Given the description of an element on the screen output the (x, y) to click on. 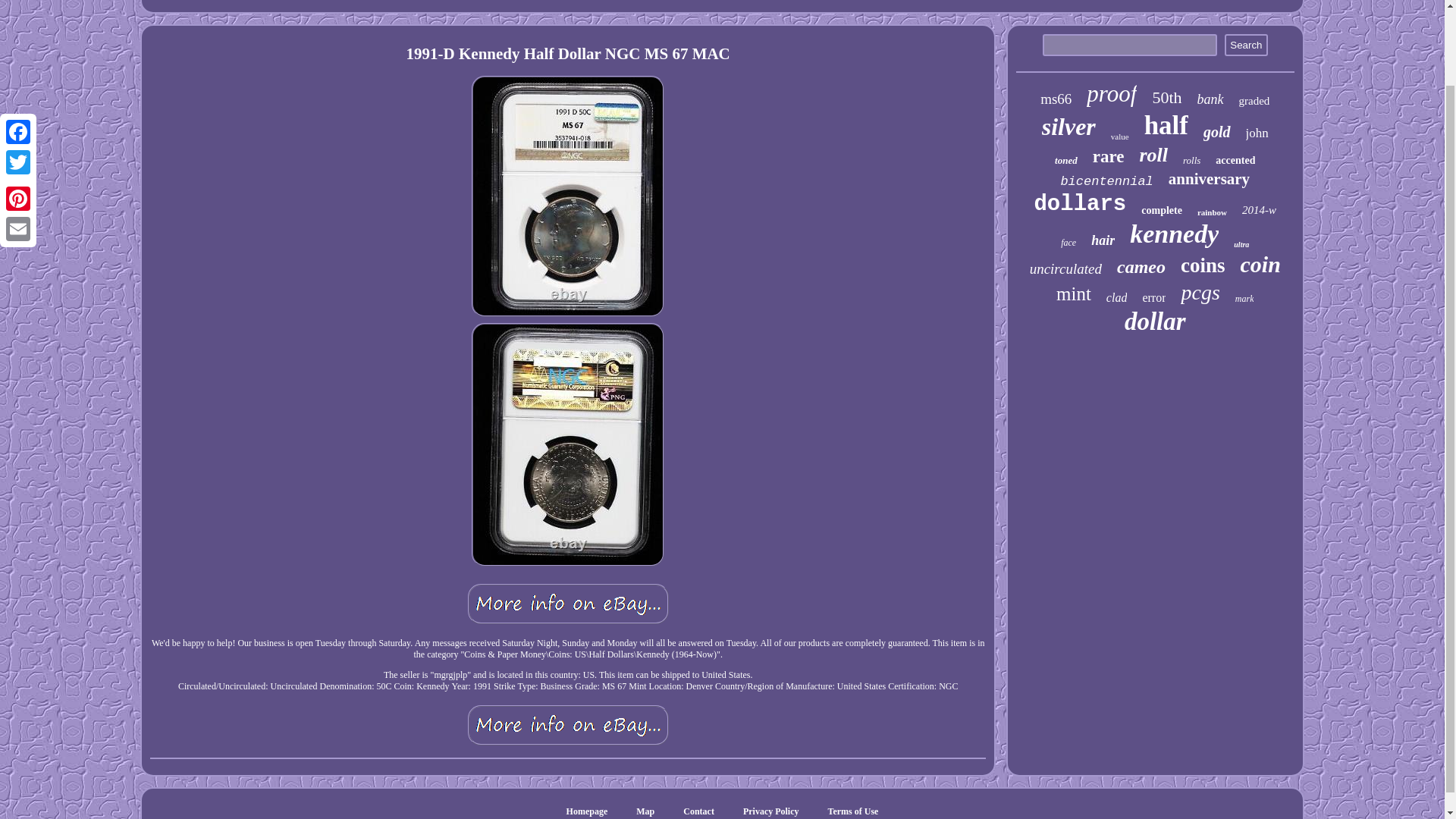
50th (1165, 97)
roll (1152, 155)
proof (1111, 93)
Twitter (17, 75)
ms66 (1056, 98)
Pinterest (17, 112)
gold (1217, 131)
anniversary (1209, 179)
rainbow (1211, 212)
value (1119, 135)
Email (17, 142)
bicentennial (1106, 181)
1991-D Kennedy Half Dollar NGC MS 67 MAC (567, 725)
1991-D Kennedy Half Dollar NGC MS 67 MAC (567, 603)
face (1068, 242)
